Given the description of an element on the screen output the (x, y) to click on. 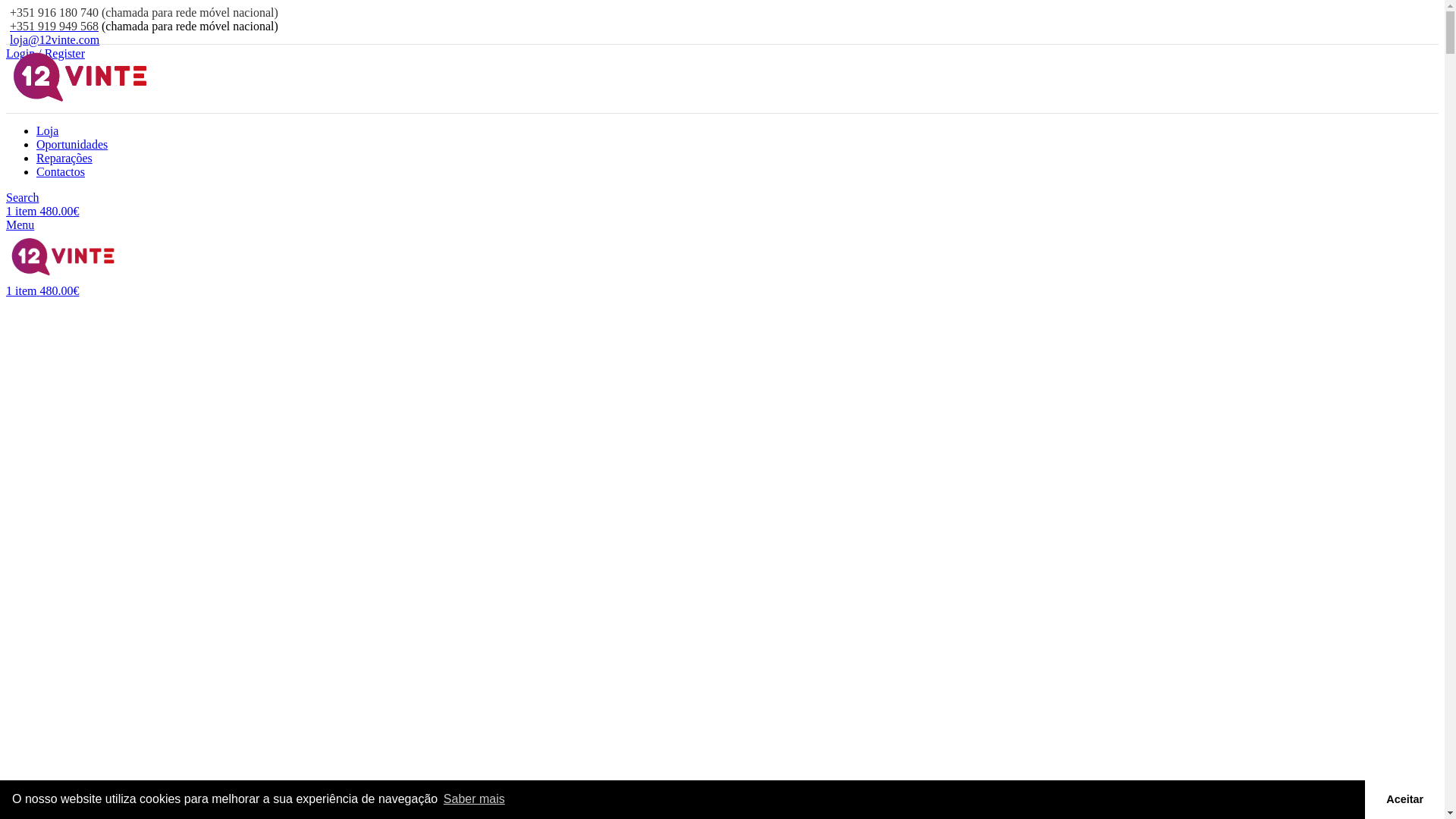
Oportunidades Element type: text (71, 144)
+351 919 949 568 Element type: text (52, 25)
Search Element type: text (22, 197)
Menu Element type: text (20, 224)
loja@12vinte.com Element type: text (54, 39)
Contactos Element type: text (60, 171)
Loja Element type: text (47, 130)
Saber mais Element type: text (474, 798)
Login / Register Element type: text (45, 53)
